Given the description of an element on the screen output the (x, y) to click on. 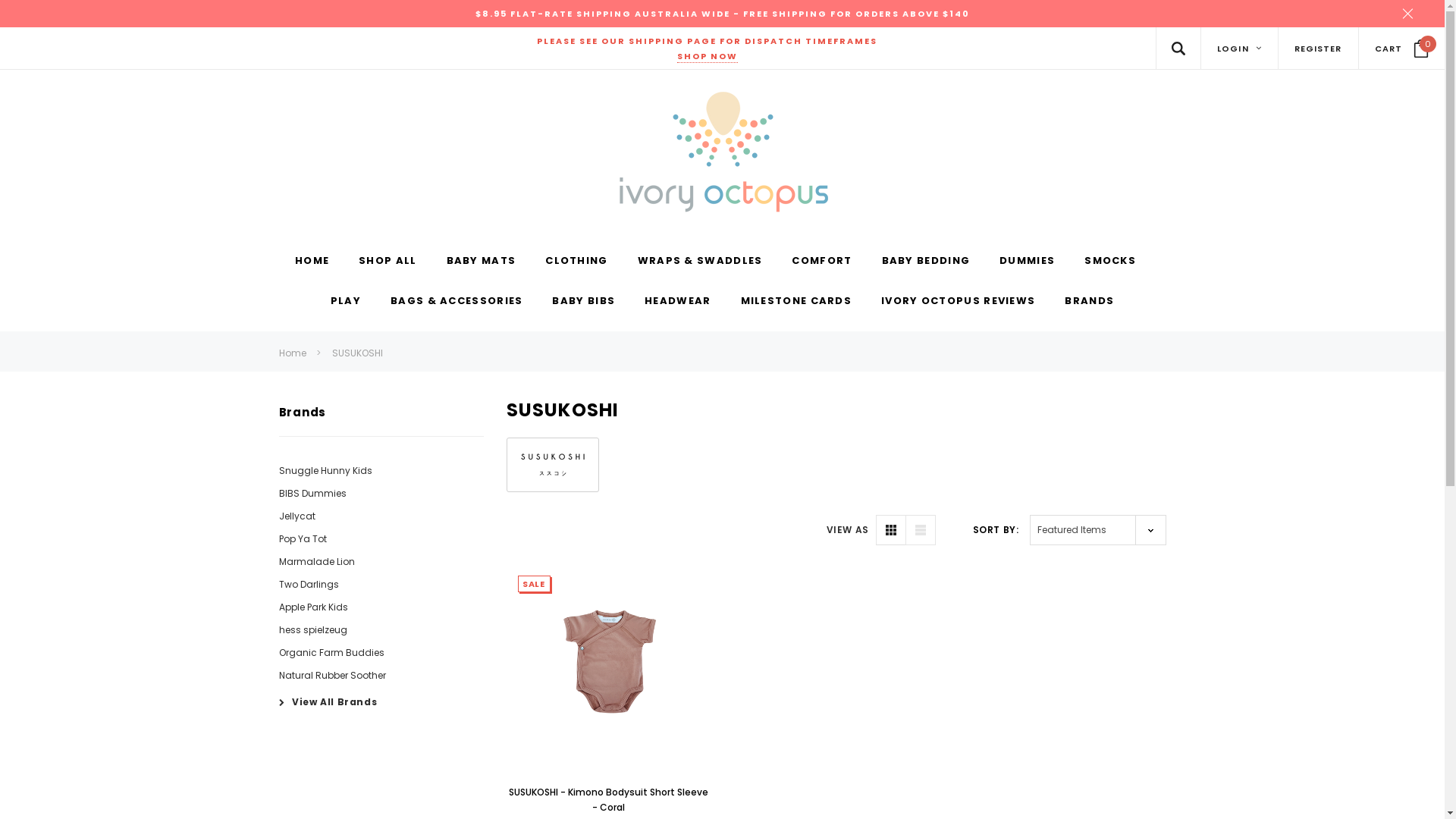
View All Brands Element type: text (328, 700)
BABY MATS Element type: text (481, 261)
Apple Park Kids Element type: text (313, 606)
hess spielzeug Element type: text (313, 629)
HOME Element type: text (311, 261)
BRANDS Element type: text (1088, 301)
Home Element type: text (292, 352)
PLAY Element type: text (345, 301)
List View Element type: hover (920, 529)
REGISTER Element type: text (1318, 47)
IVORY OCTOPUS REVIEWS Element type: text (958, 301)
Ivory Octopus Element type: hover (722, 151)
Two Darlings Element type: text (308, 583)
BABY BIBS Element type: text (583, 301)
CART
0 Element type: text (1401, 48)
SHOP ALL Element type: text (387, 261)
SHOP NOW Element type: text (706, 56)
Natural Rubber Soother Element type: text (332, 674)
BIBS Dummies Element type: text (312, 492)
Grid View Element type: hover (890, 529)
Pop Ya Tot Element type: text (302, 538)
Organic Farm Buddies Element type: text (331, 652)
Jellycat Element type: text (297, 515)
CLOTHING Element type: text (576, 261)
BABY BEDDING Element type: text (925, 261)
WRAPS & SWADDLES Element type: text (699, 261)
MILESTONE CARDS Element type: text (796, 301)
HEADWEAR Element type: text (677, 301)
SUSUKOSHI Element type: text (357, 352)
BAGS & ACCESSORIES Element type: text (456, 301)
SUSUKOSHI - Kimono Bodysuit Short Sleeve - Coral Element type: text (608, 799)
SMOCKS Element type: text (1109, 261)
COMFORT Element type: text (821, 261)
Snuggle Hunny Kids Element type: text (325, 470)
DUMMIES Element type: text (1026, 261)
LOGIN Element type: text (1239, 47)
Marmalade Lion Element type: text (316, 561)
